Given the description of an element on the screen output the (x, y) to click on. 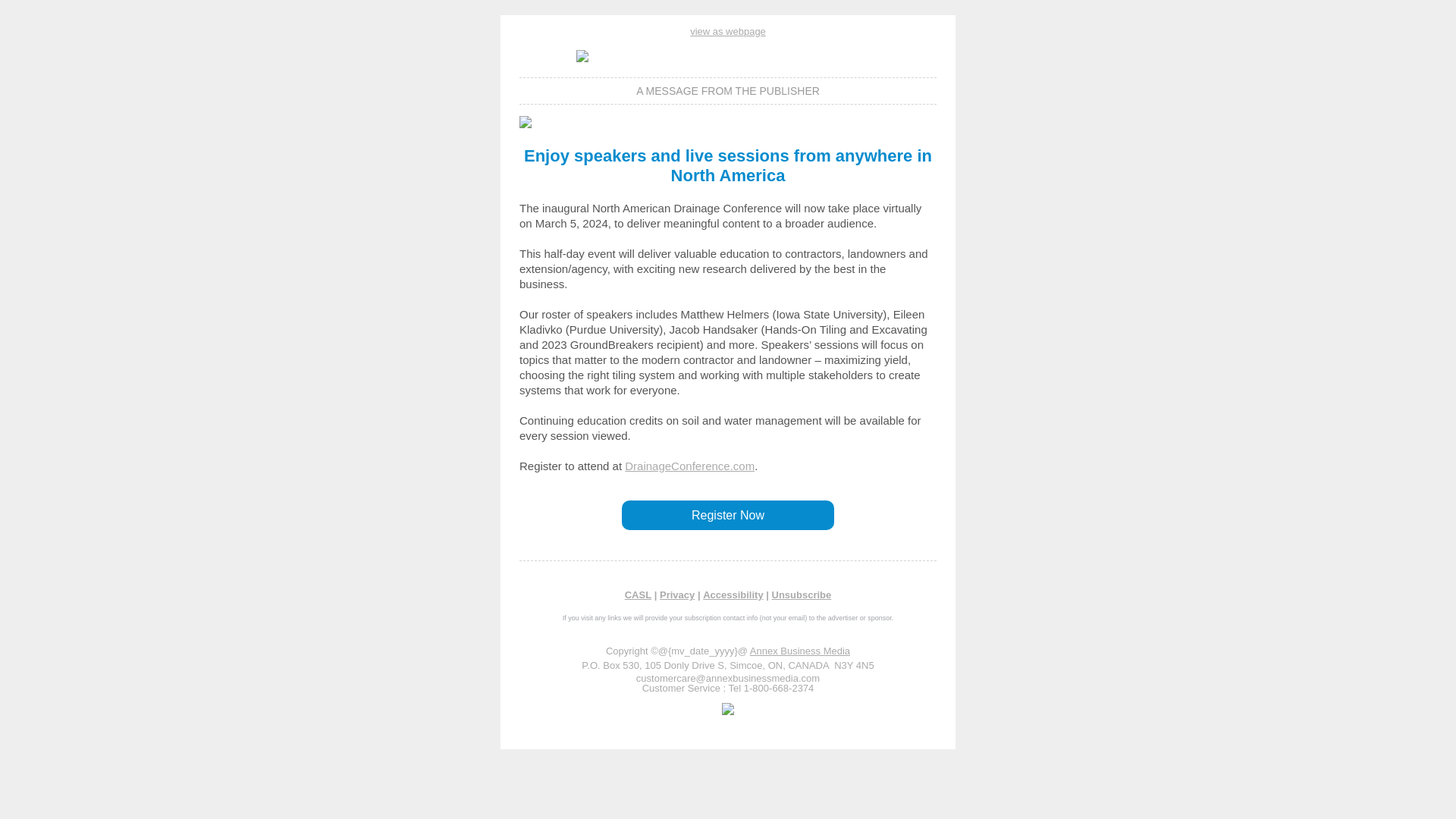
view as webpage (727, 30)
Unsubscribe (801, 594)
Privacy (676, 594)
Register Now (727, 514)
Accessibility (732, 594)
CASL (637, 594)
Annex Business Media (799, 650)
DrainageConference.com (689, 465)
